Given the description of an element on the screen output the (x, y) to click on. 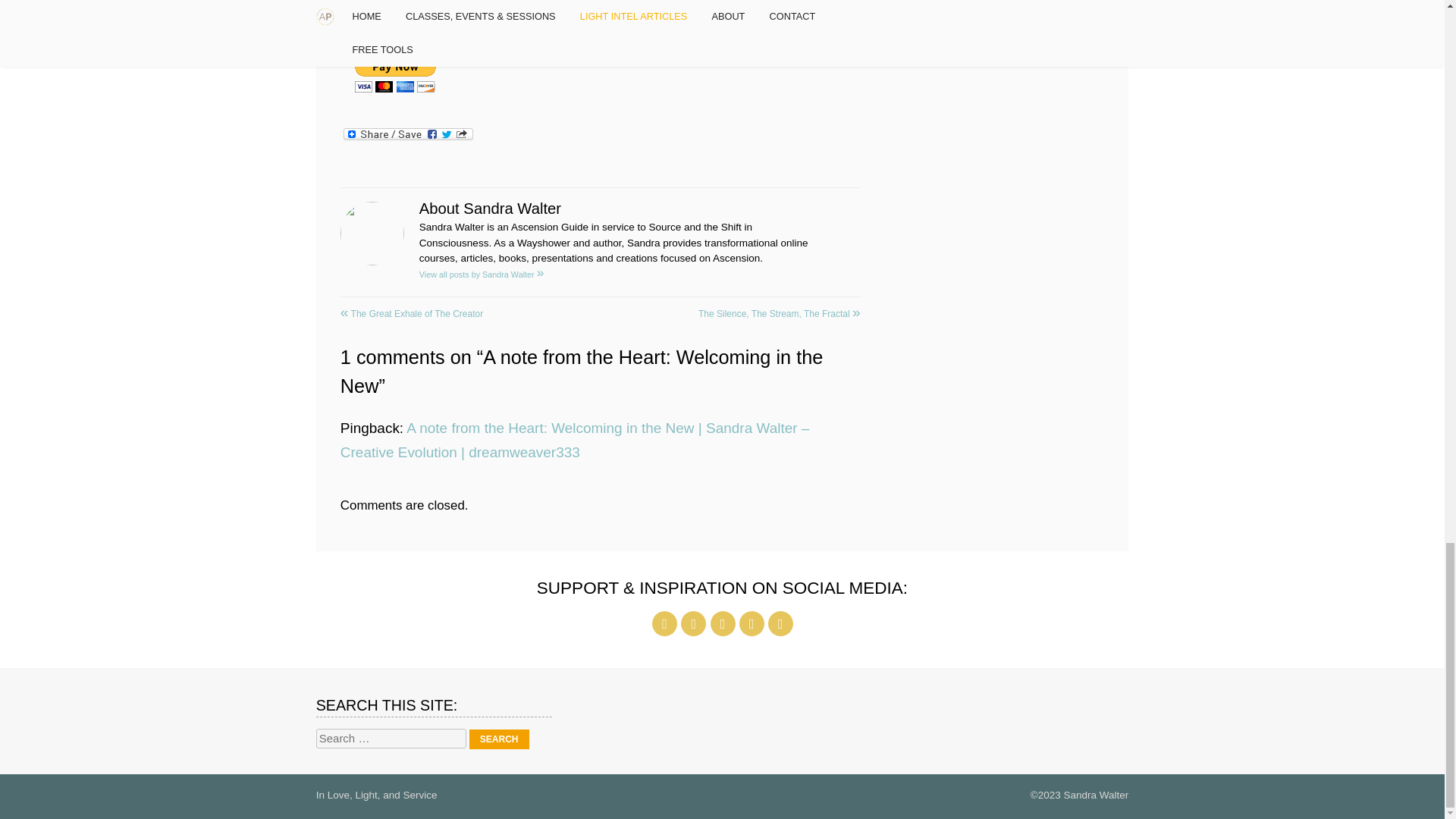
Search (498, 739)
